Given the description of an element on the screen output the (x, y) to click on. 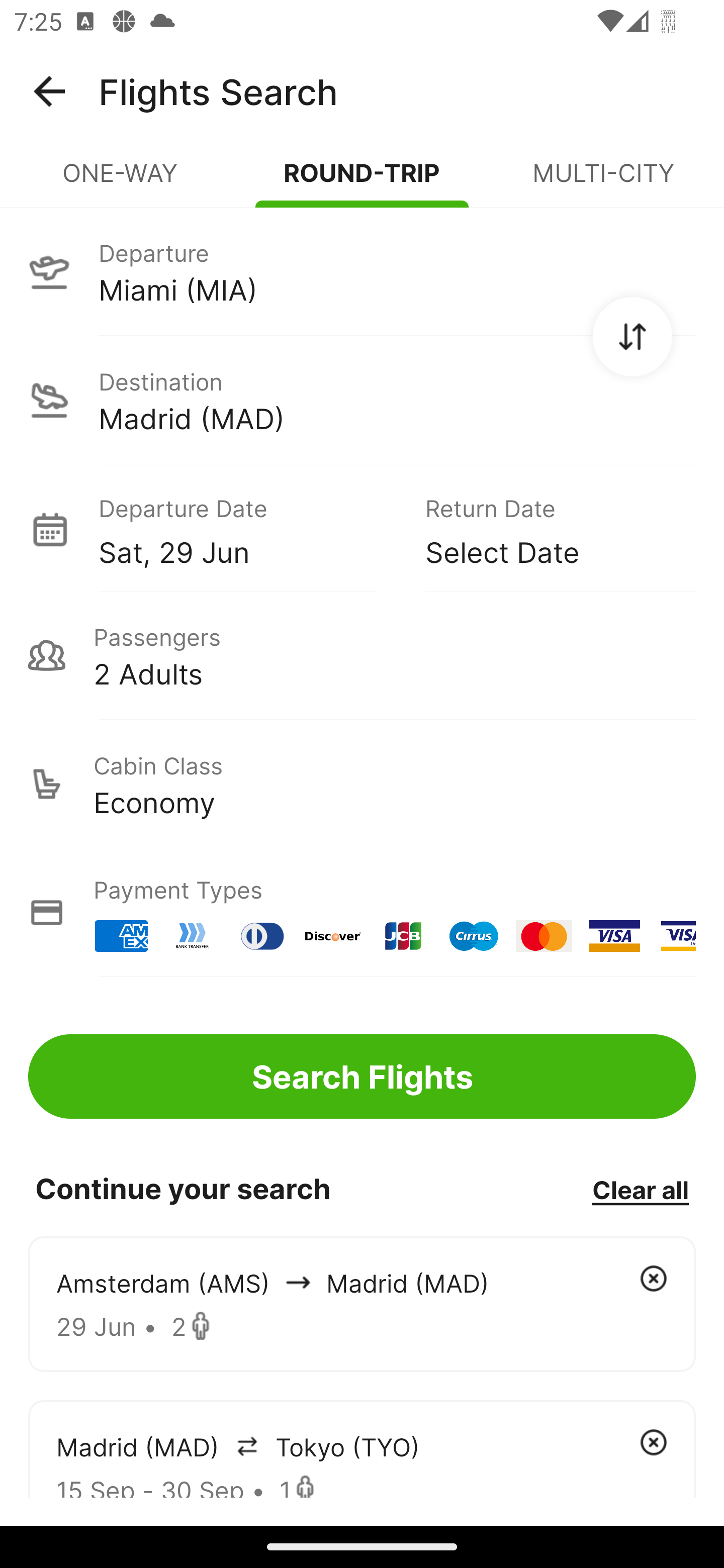
ONE-WAY (120, 180)
ROUND-TRIP (361, 180)
MULTI-CITY (603, 180)
Departure Miami (MIA) (362, 270)
Destination Madrid (MAD) (362, 400)
Departure Date Sat, 29 Jun (247, 528)
Return Date Select Date (546, 528)
Passengers 2 Adults (362, 655)
Cabin Class Economy (362, 783)
Payment Types (362, 912)
Search Flights (361, 1075)
Clear all (640, 1189)
